Given the description of an element on the screen output the (x, y) to click on. 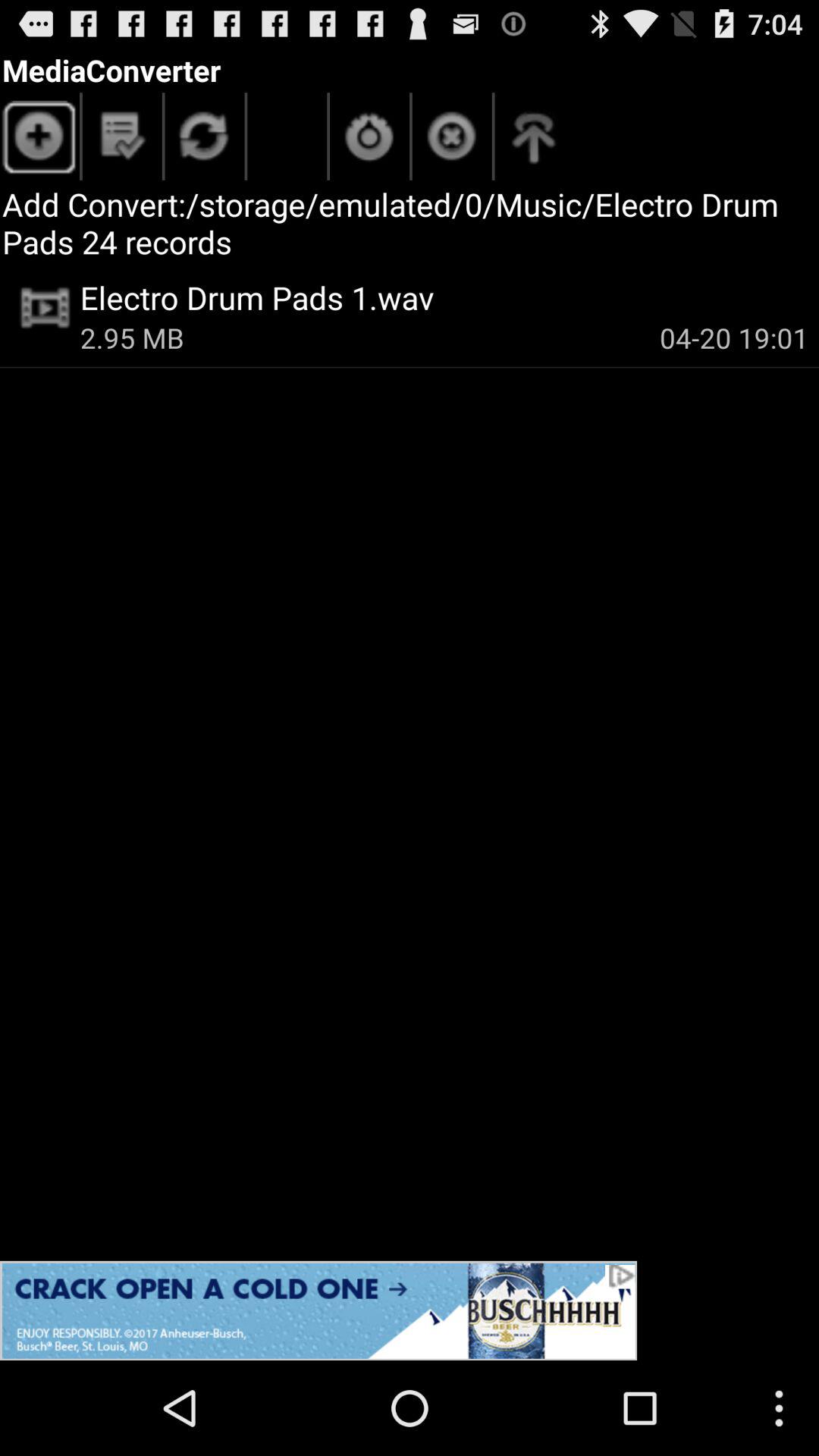
click on the fifth icon which is below mediaconverter (452, 140)
select the alternative black line which is beside reload button (328, 136)
click on the video icon (45, 307)
